Given the description of an element on the screen output the (x, y) to click on. 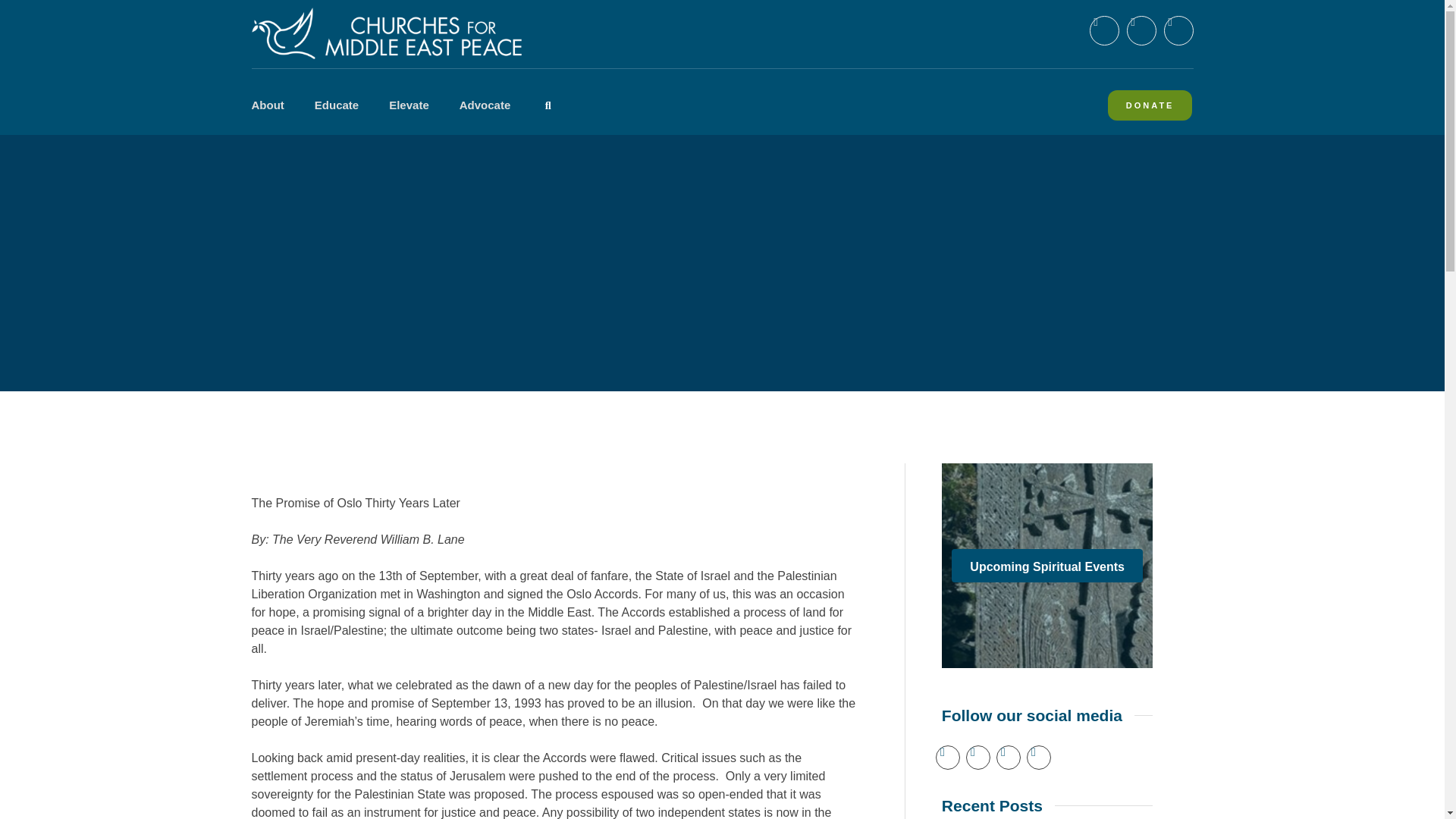
Recent Posts (998, 806)
Advocate (485, 104)
Elevate (408, 104)
Educate (336, 104)
Follow our social media (1038, 724)
Upcoming Spiritual Events (1047, 565)
DONATE (1150, 105)
About (393, 104)
